Given the description of an element on the screen output the (x, y) to click on. 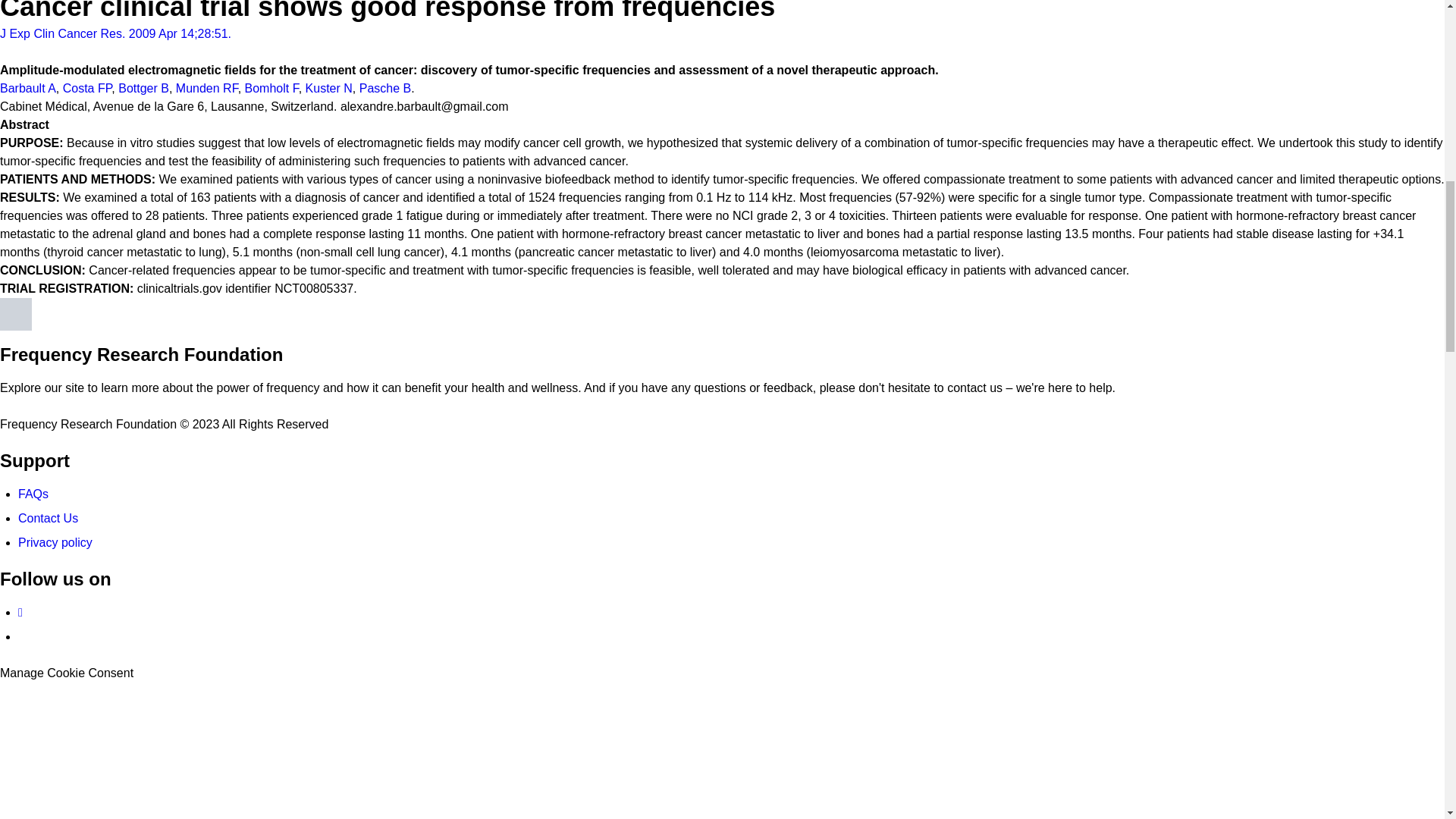
FAQs (32, 493)
J Exp Clin Cancer Res. 2009 Apr 14;28:51. (115, 33)
Contact Us (47, 517)
Pasche B (384, 88)
Kuster N (328, 88)
Bottger B (142, 88)
Bomholt F (271, 88)
Munden RF (207, 88)
Costa FP (87, 88)
Privacy policy (55, 542)
Barbault A (28, 88)
